Given the description of an element on the screen output the (x, y) to click on. 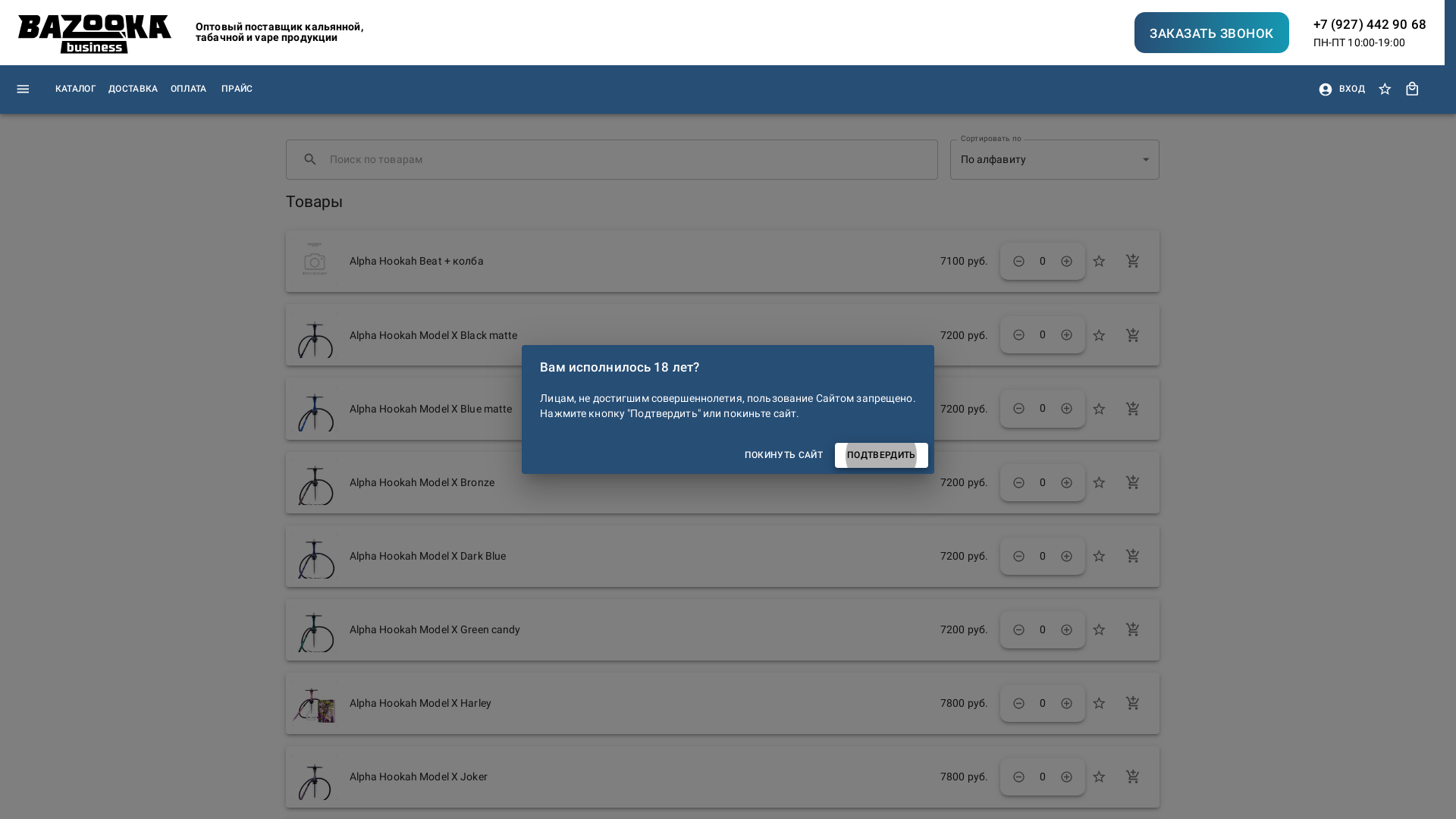
Alpha Hookah Model X Bronze Element type: text (637, 482)
Alpha Hookah Model X Green candy Element type: text (637, 629)
Alpha Hookah Model X Harley Element type: text (637, 703)
Alpha Hookah Model X Dark Blue Element type: text (637, 556)
Alpha Hookah Model X Black matte Element type: text (637, 335)
Alpha Hookah Model X Joker Element type: text (637, 776)
Alpha Hookah Model X Blue matte Element type: text (637, 409)
